Given the description of an element on the screen output the (x, y) to click on. 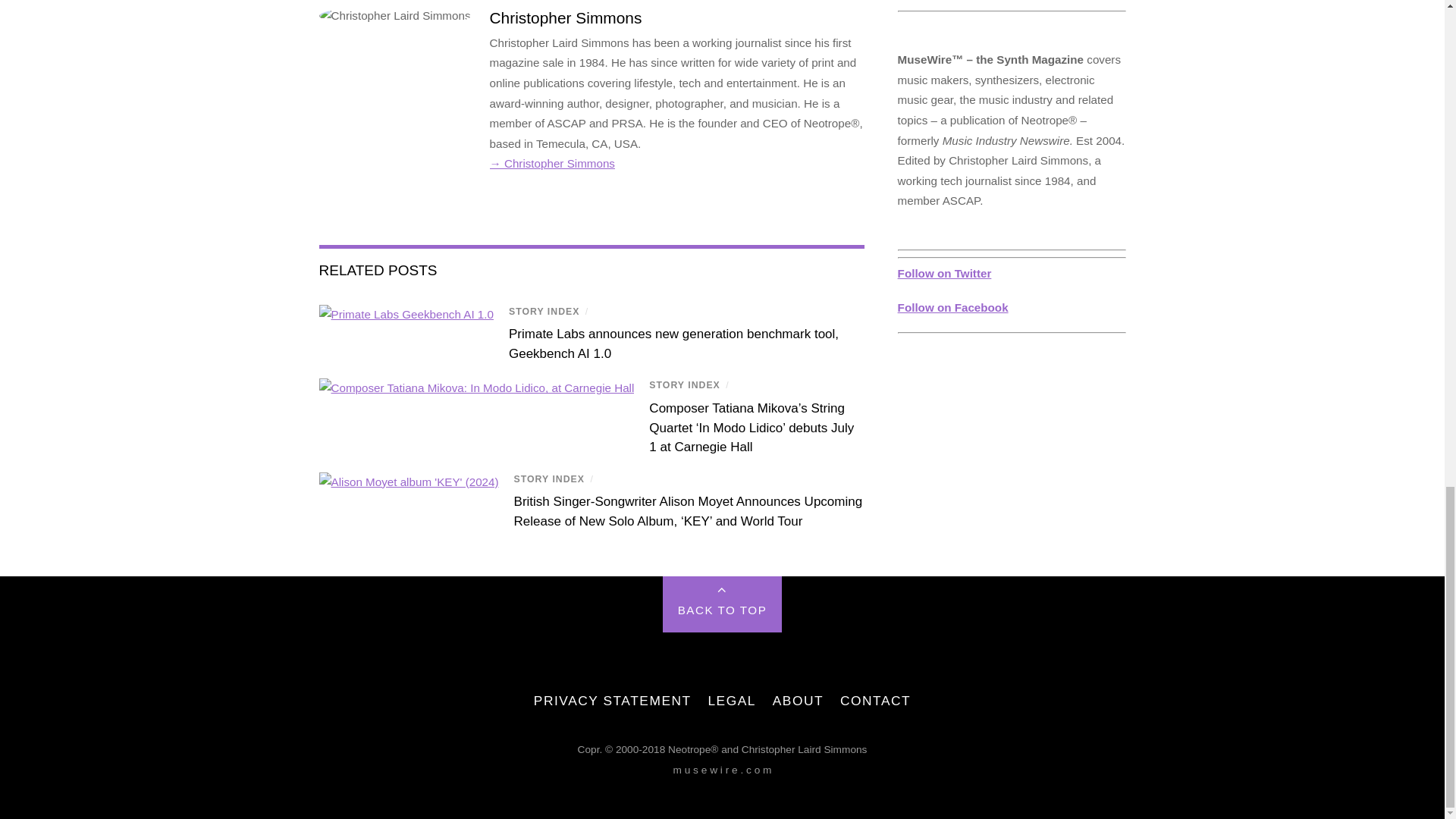
Christopher Simmons (565, 17)
Twitter (953, 307)
Twitter (944, 273)
